Given the description of an element on the screen output the (x, y) to click on. 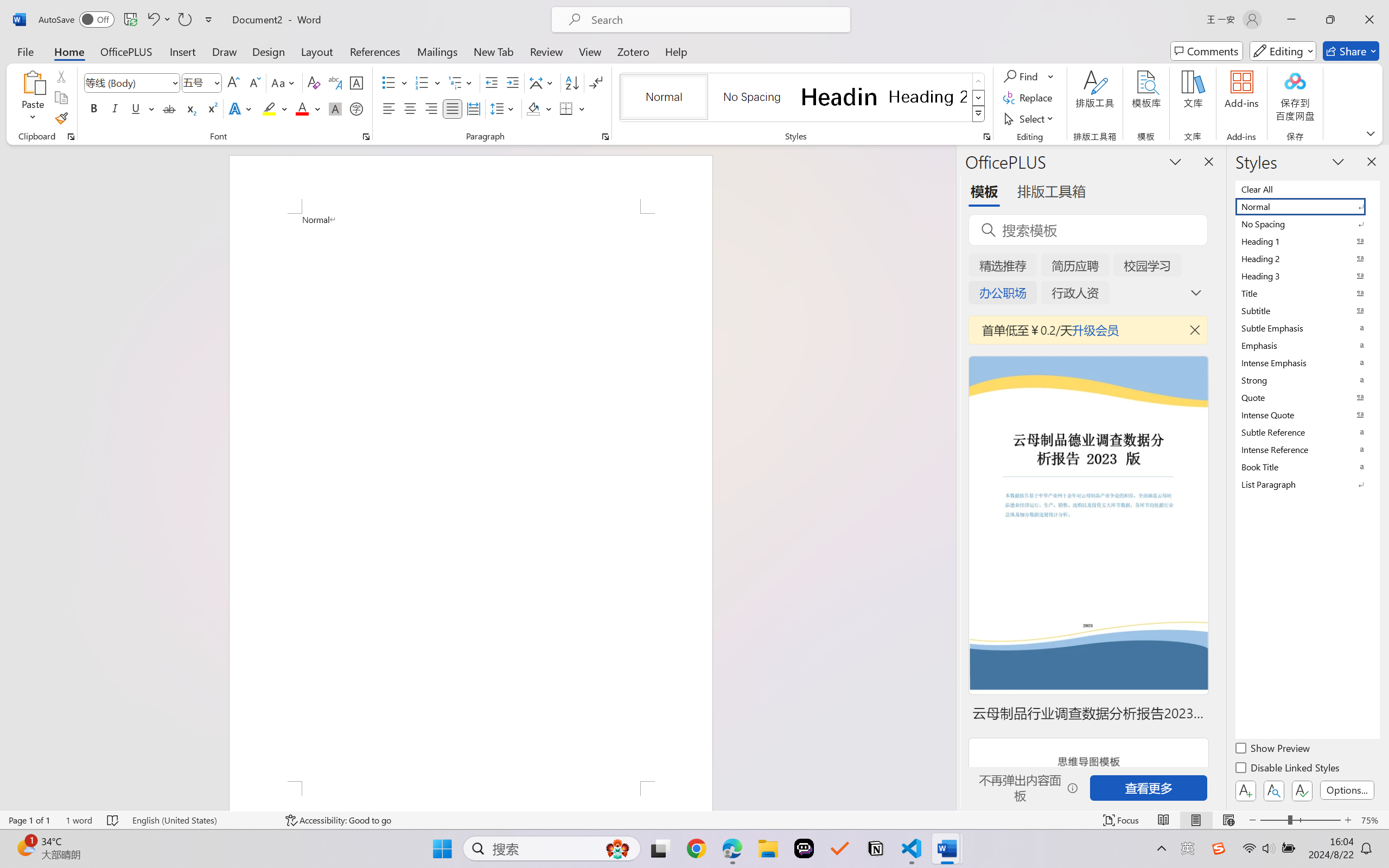
Copy (60, 97)
AutomationID: BadgeAnchorLargeTicker (24, 847)
Increase Indent (512, 82)
More Options (1051, 75)
Heading 3 (1306, 275)
Class: Image (1218, 847)
Center (409, 108)
Align Right (431, 108)
Task Pane Options (1175, 161)
Class: MsoCommandBar (694, 819)
Draw (224, 51)
Character Shading (334, 108)
Row up (978, 81)
Bullets (395, 82)
